Given the description of an element on the screen output the (x, y) to click on. 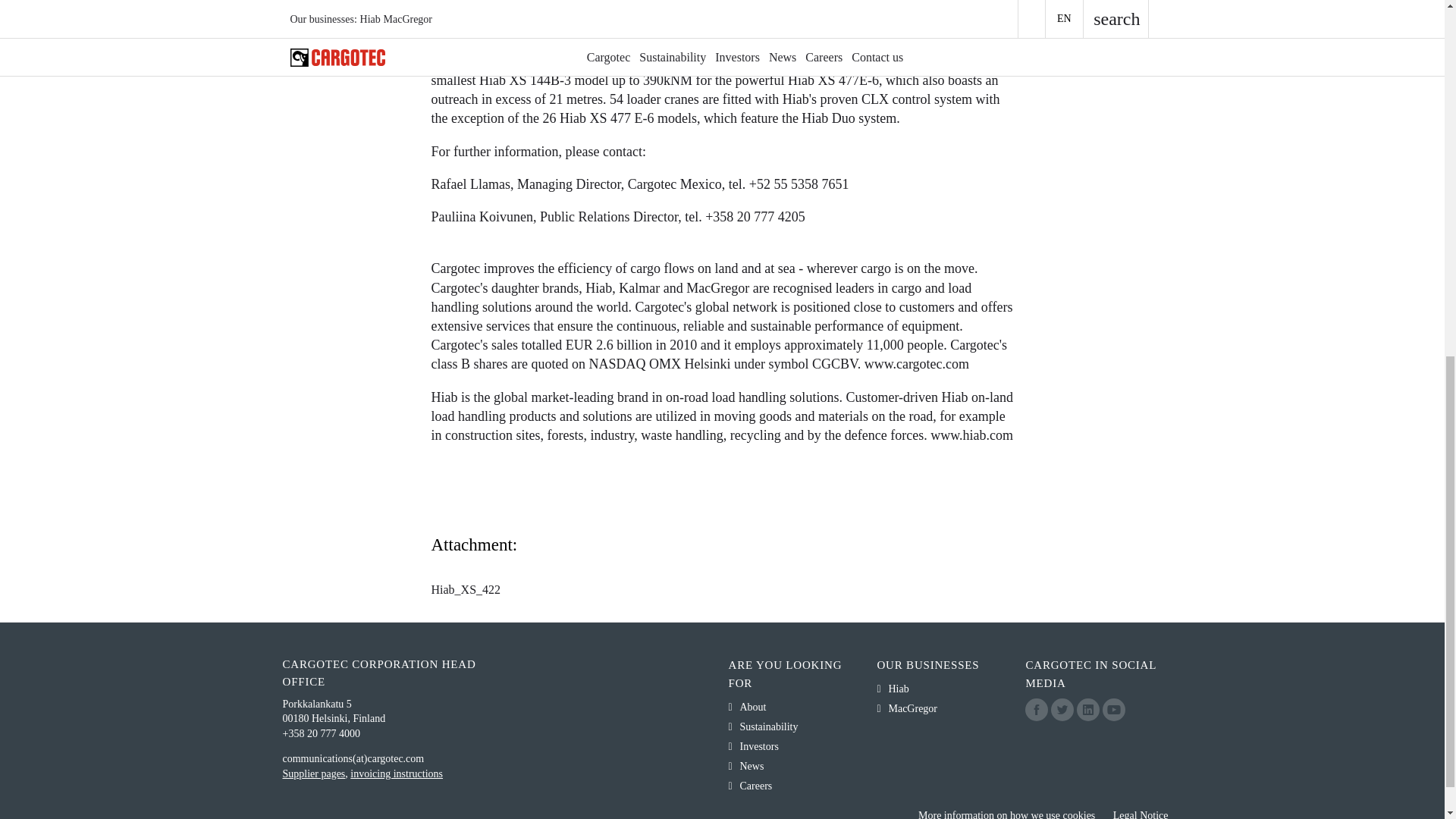
twitter (1062, 709)
facebook (1036, 709)
youtube (1113, 709)
linkedin (1088, 709)
